Given the description of an element on the screen output the (x, y) to click on. 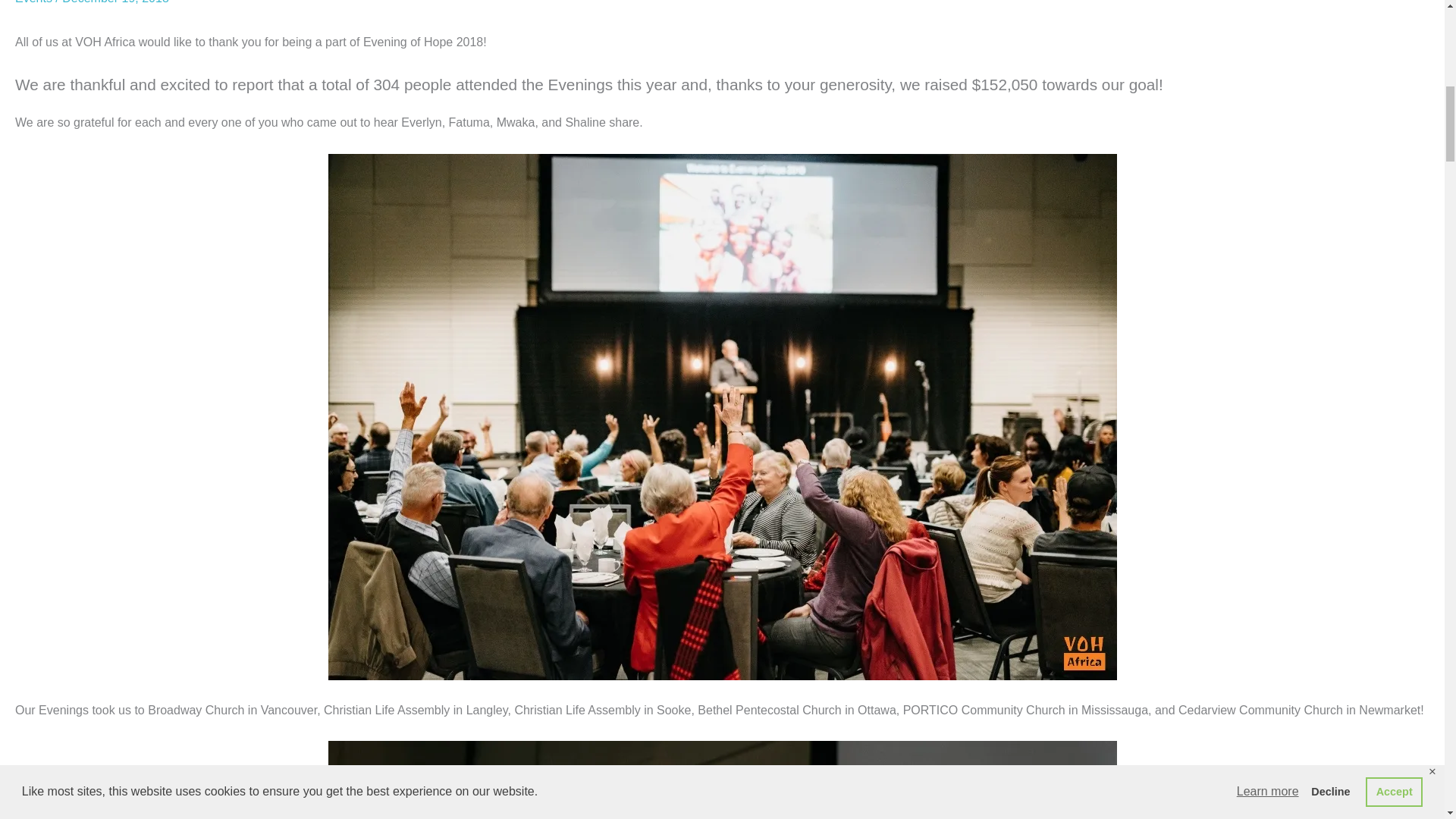
Events (33, 2)
